Given the description of an element on the screen output the (x, y) to click on. 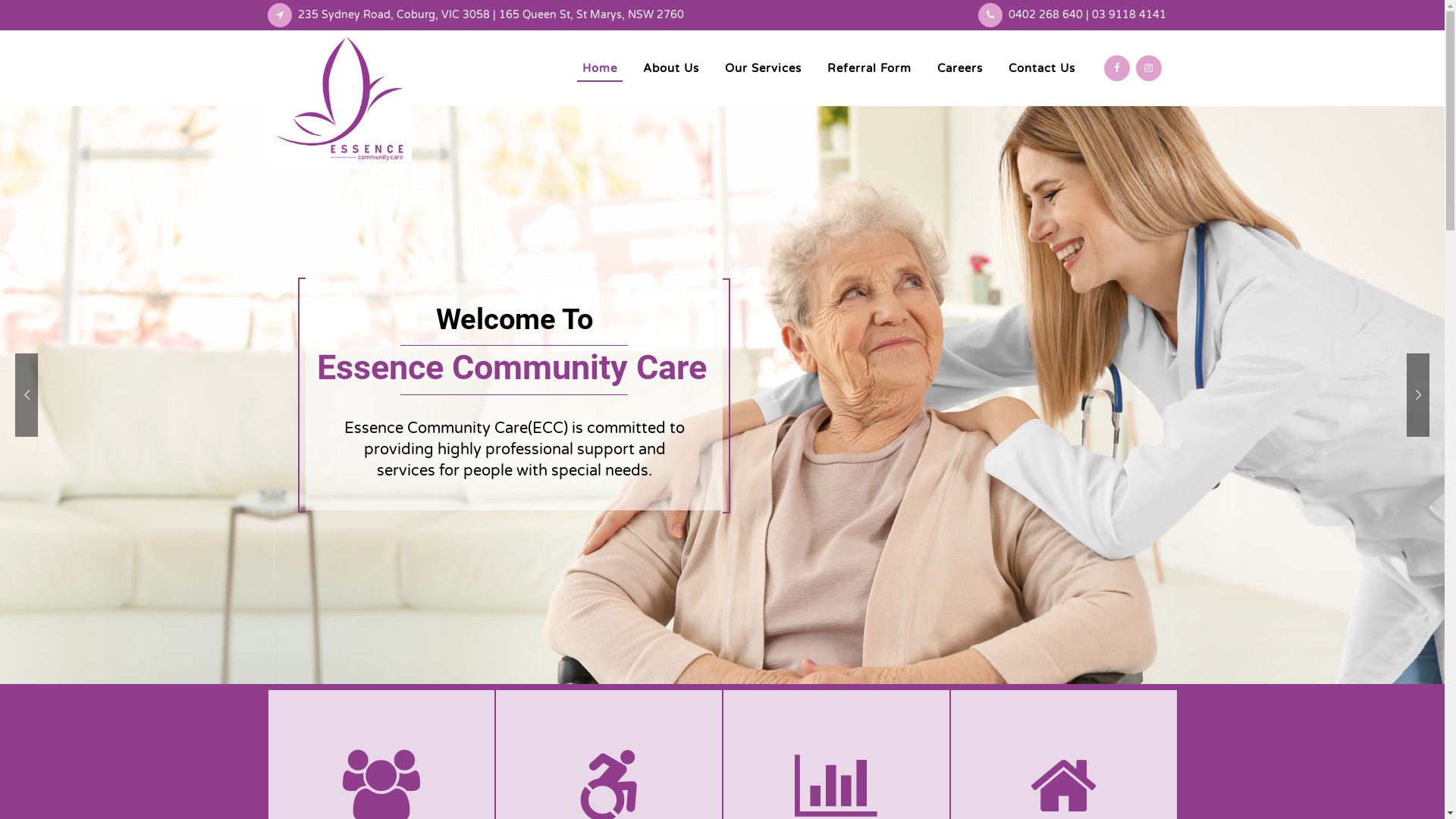
Contact Us Element type: text (1041, 68)
Careers Element type: text (959, 68)
0402 268 640 Element type: text (1045, 14)
Referral Form Element type: text (869, 68)
03 9118 4141 Element type: text (1129, 14)
About Us Element type: text (671, 68)
Home Element type: text (599, 68)
Our Services Element type: text (763, 68)
